Given the description of an element on the screen output the (x, y) to click on. 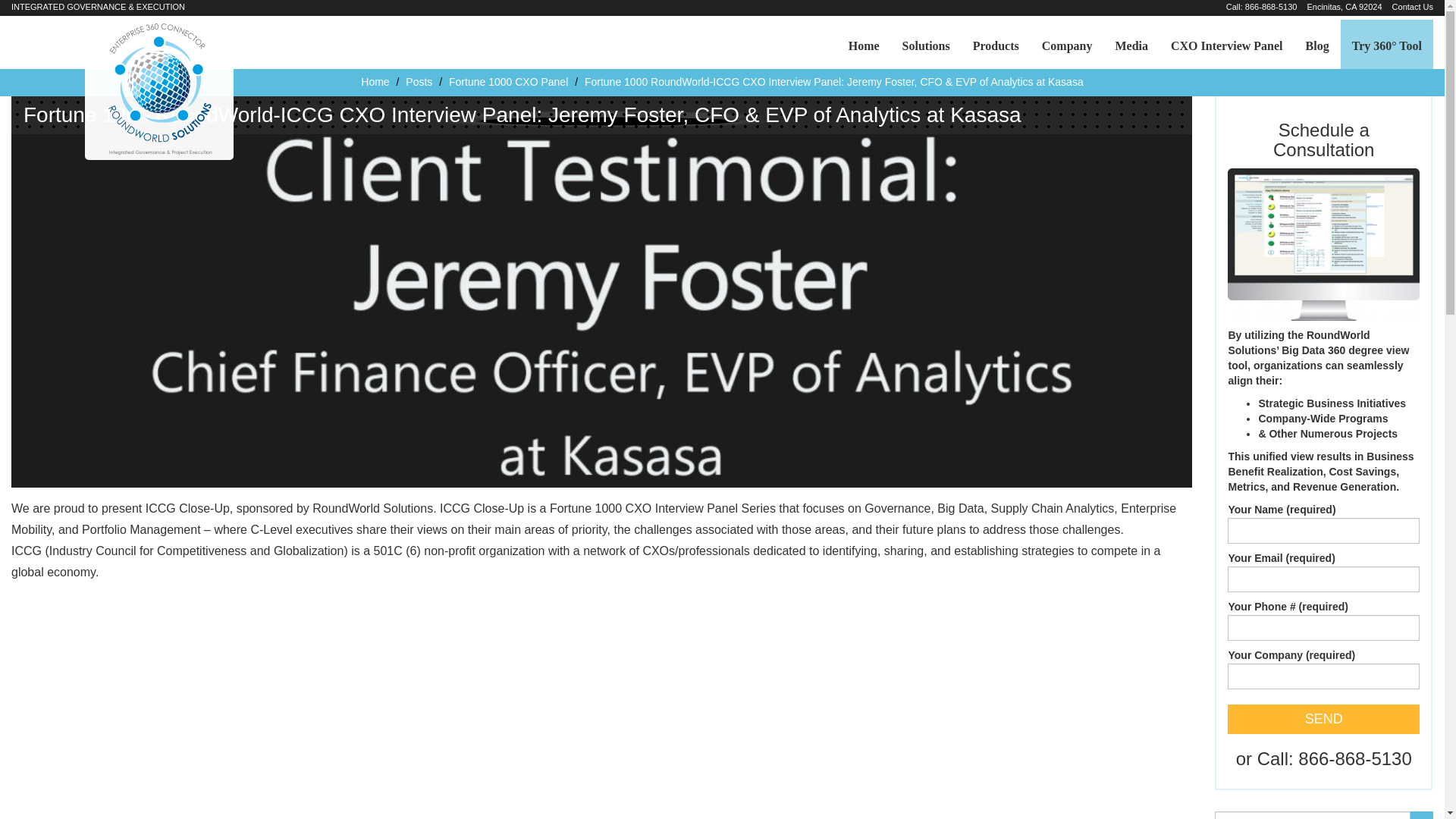
Solutions (925, 45)
Fortune 1000 CXO Panel (507, 81)
Contact Us (1411, 6)
Home (864, 45)
Company (1066, 45)
Send (1323, 719)
866-868-5130 (1270, 6)
Media (1130, 45)
Send (1323, 719)
Products (995, 45)
Products (995, 45)
Company (1066, 45)
Posts (419, 81)
Solutions (925, 45)
Home (374, 81)
